Given the description of an element on the screen output the (x, y) to click on. 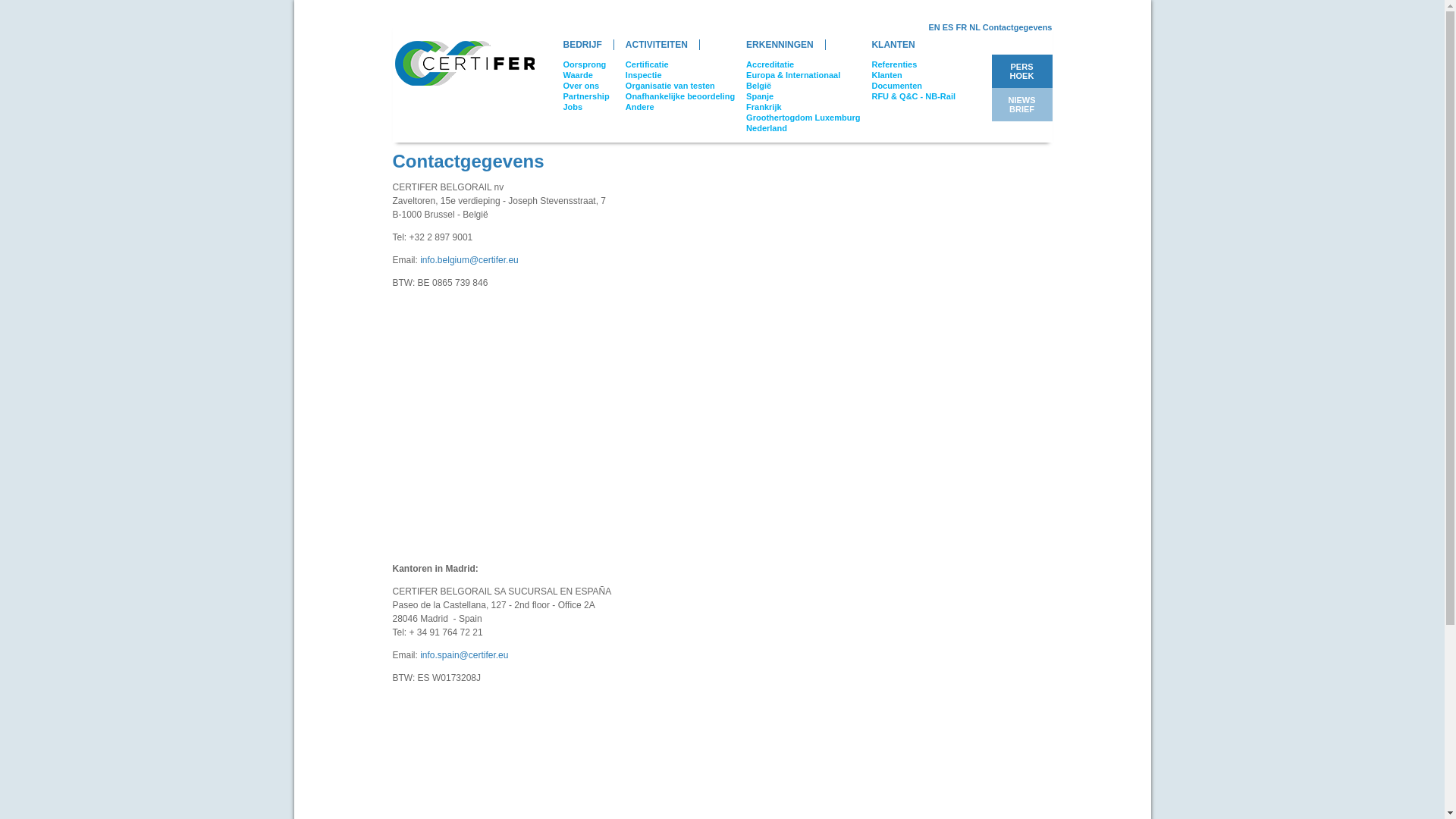
ES Element type: text (947, 26)
Inspectie Element type: text (643, 74)
BEDRIJF Element type: text (583, 44)
PERS
HOEK Element type: text (1022, 71)
ACTIVITEITEN Element type: text (656, 44)
FR Element type: text (961, 26)
Accreditatie Element type: text (769, 64)
Documenten Element type: text (896, 85)
Europa & Internationaal Element type: text (793, 74)
info.spain@certifer.eu Element type: text (464, 654)
Waarde Element type: text (577, 74)
ERKENNINGEN Element type: text (779, 44)
Contactgegevens Element type: text (1017, 26)
Spanje Element type: text (759, 95)
Certificatie Element type: text (646, 64)
Groothertogdom Luxemburg Element type: text (802, 117)
Klanten Element type: text (886, 74)
Organisatie van testen Element type: text (670, 85)
Partnership Element type: text (585, 95)
Referenties Element type: text (893, 64)
Nederland Element type: text (766, 127)
Jobs Element type: text (572, 106)
EN Element type: text (933, 26)
Over ons Element type: text (580, 85)
Andere Element type: text (639, 106)
Oorsprong Element type: text (583, 64)
RFU & Q&C - NB-Rail Element type: text (913, 95)
Frankrijk Element type: text (763, 106)
info.belgium@certifer.eu Element type: text (469, 259)
KLANTEN Element type: text (892, 44)
NIEWS
BRIEF Element type: text (1021, 104)
Onafhankelijke beoordeling Element type: text (679, 95)
NL Element type: text (974, 26)
